Given the description of an element on the screen output the (x, y) to click on. 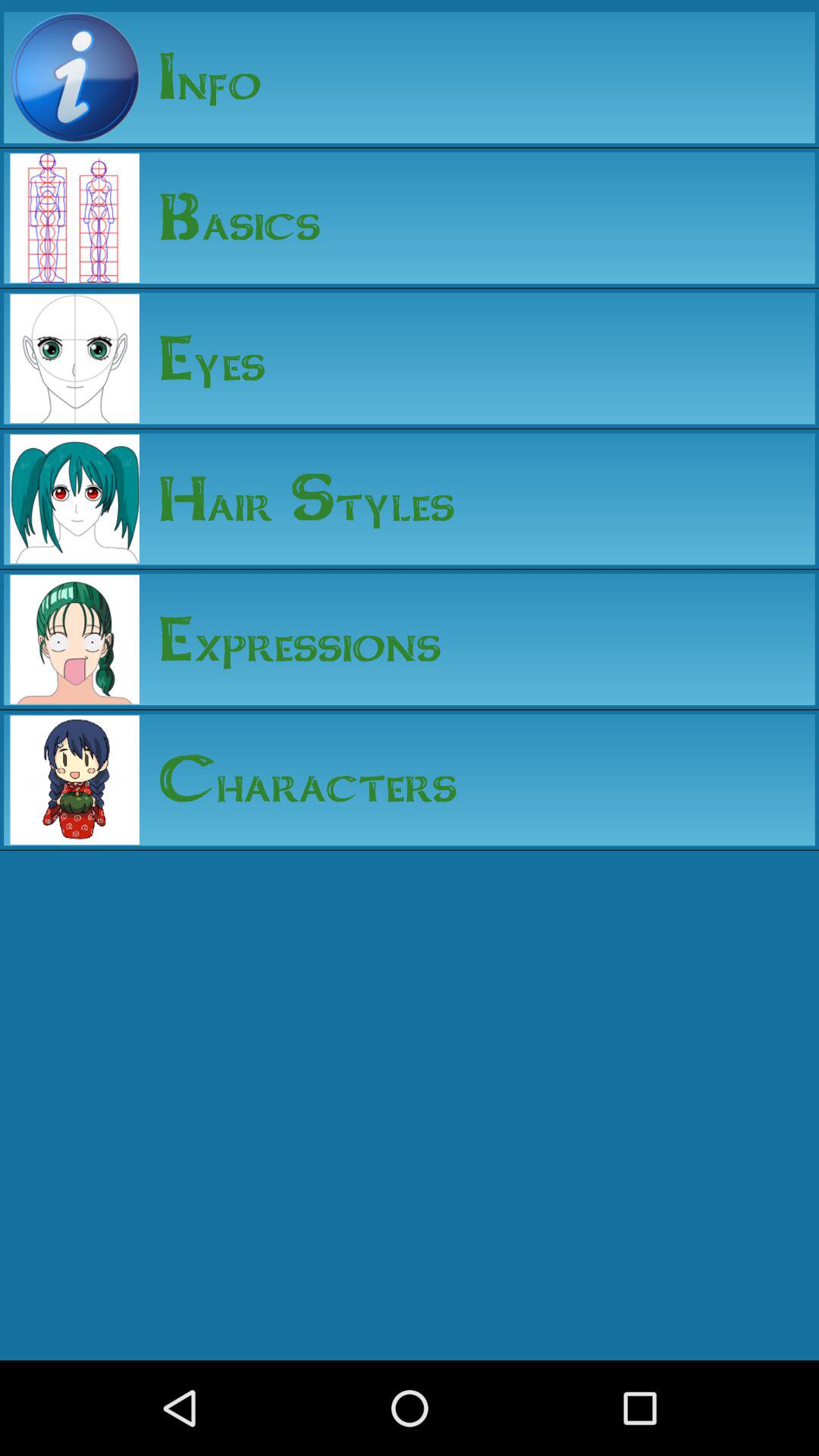
jump to eyes (202, 357)
